Given the description of an element on the screen output the (x, y) to click on. 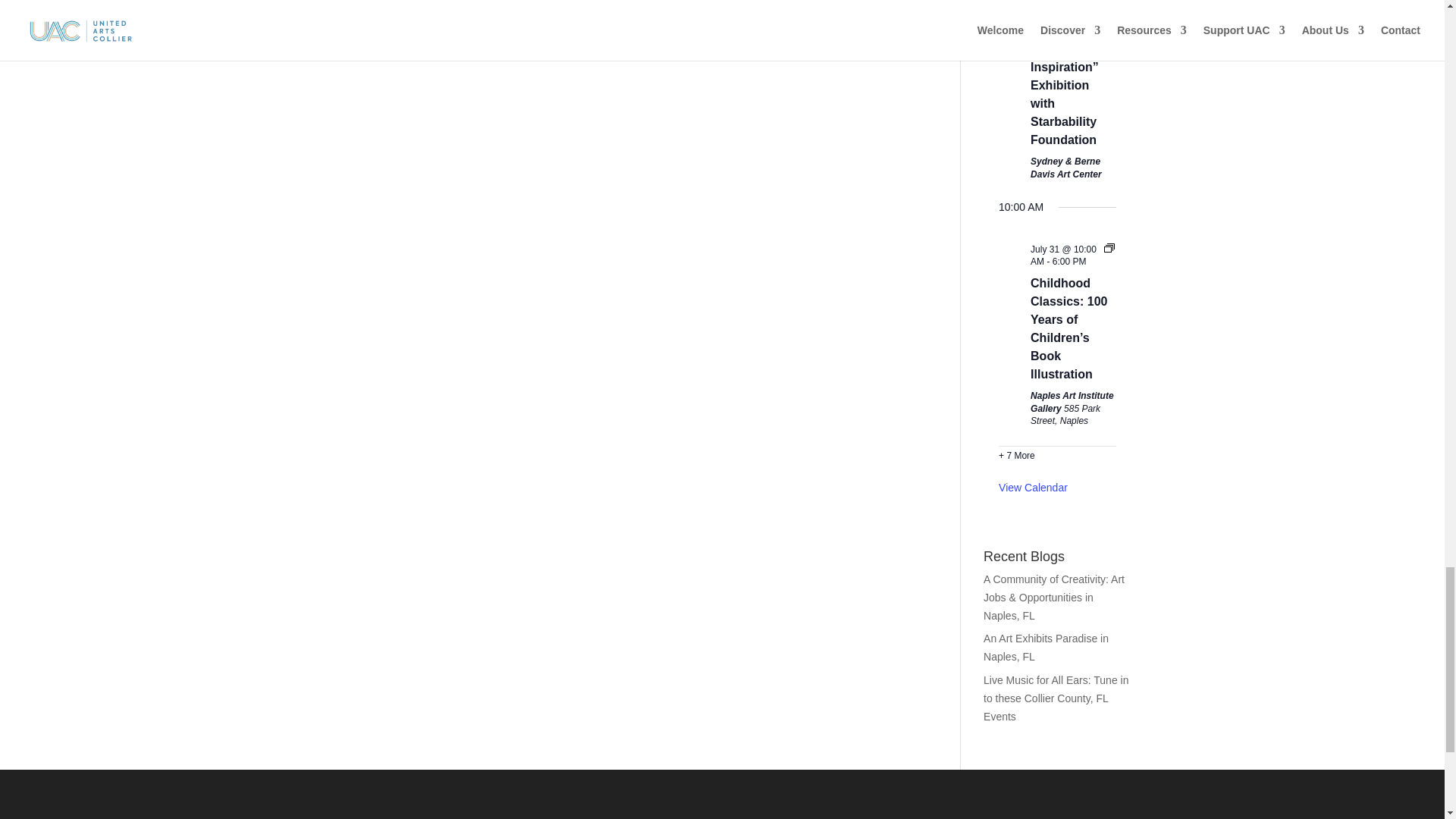
Event Series (1109, 13)
Event Series (1109, 247)
